Given the description of an element on the screen output the (x, y) to click on. 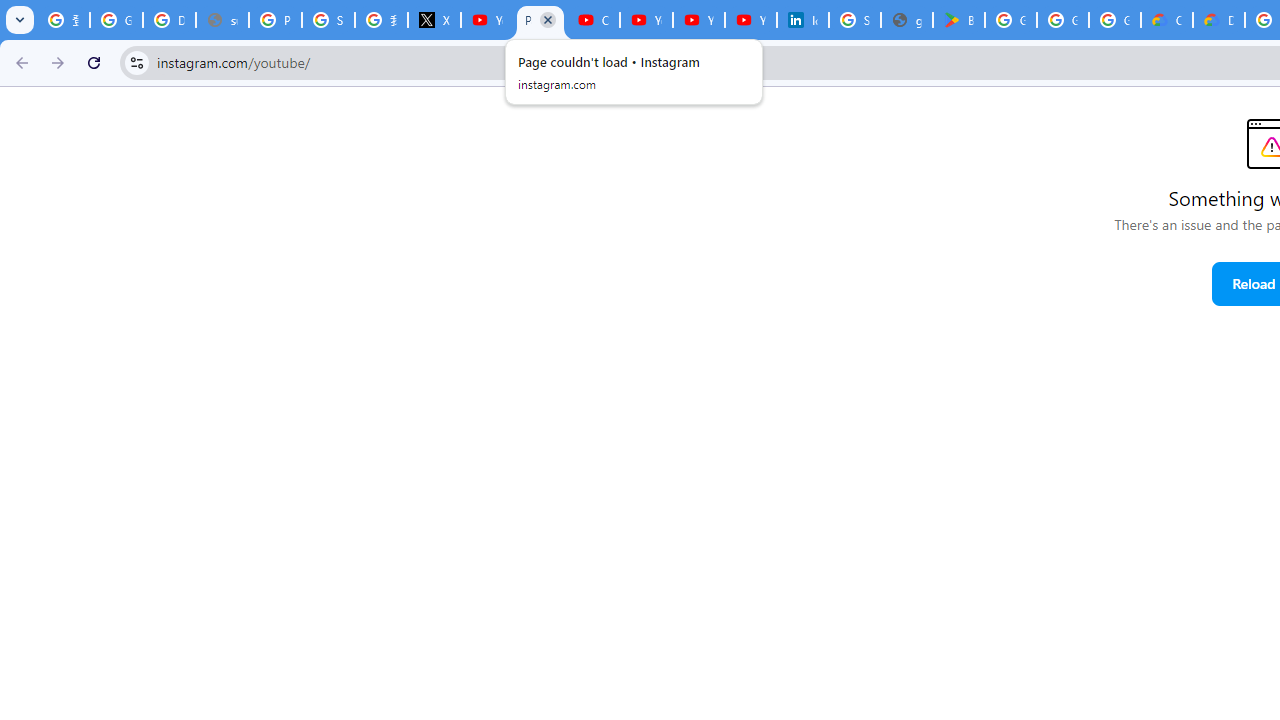
Google Workspace - Specific Terms (1062, 20)
